Given the description of an element on the screen output the (x, y) to click on. 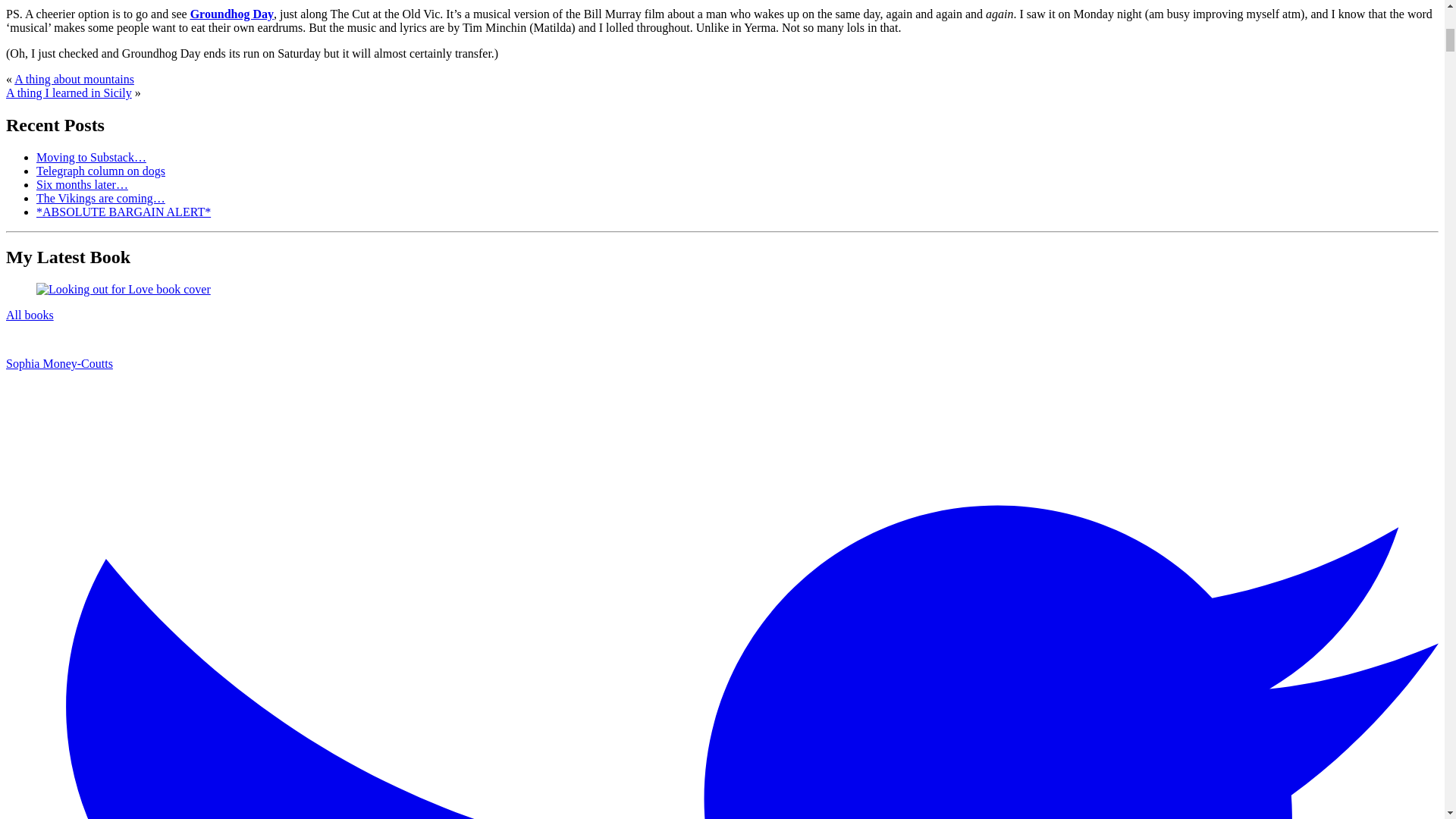
A thing about mountains (73, 78)
Telegraph column on dogs (100, 169)
Groundhog Day (231, 13)
A thing I learned in Sicily (68, 92)
All books (29, 314)
